Given the description of an element on the screen output the (x, y) to click on. 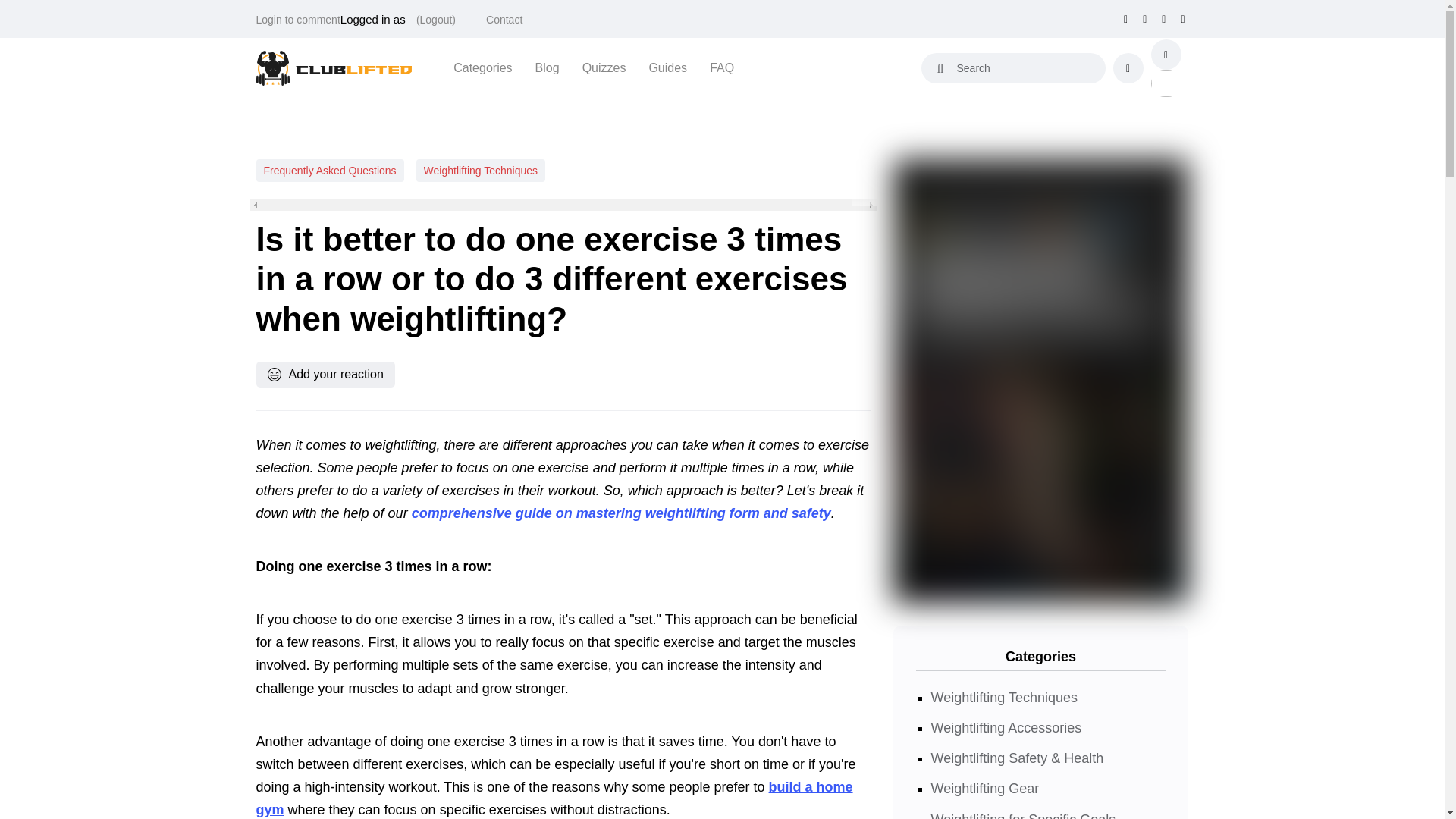
Categories (482, 67)
Contact (504, 19)
Login to comment (298, 19)
